Given the description of an element on the screen output the (x, y) to click on. 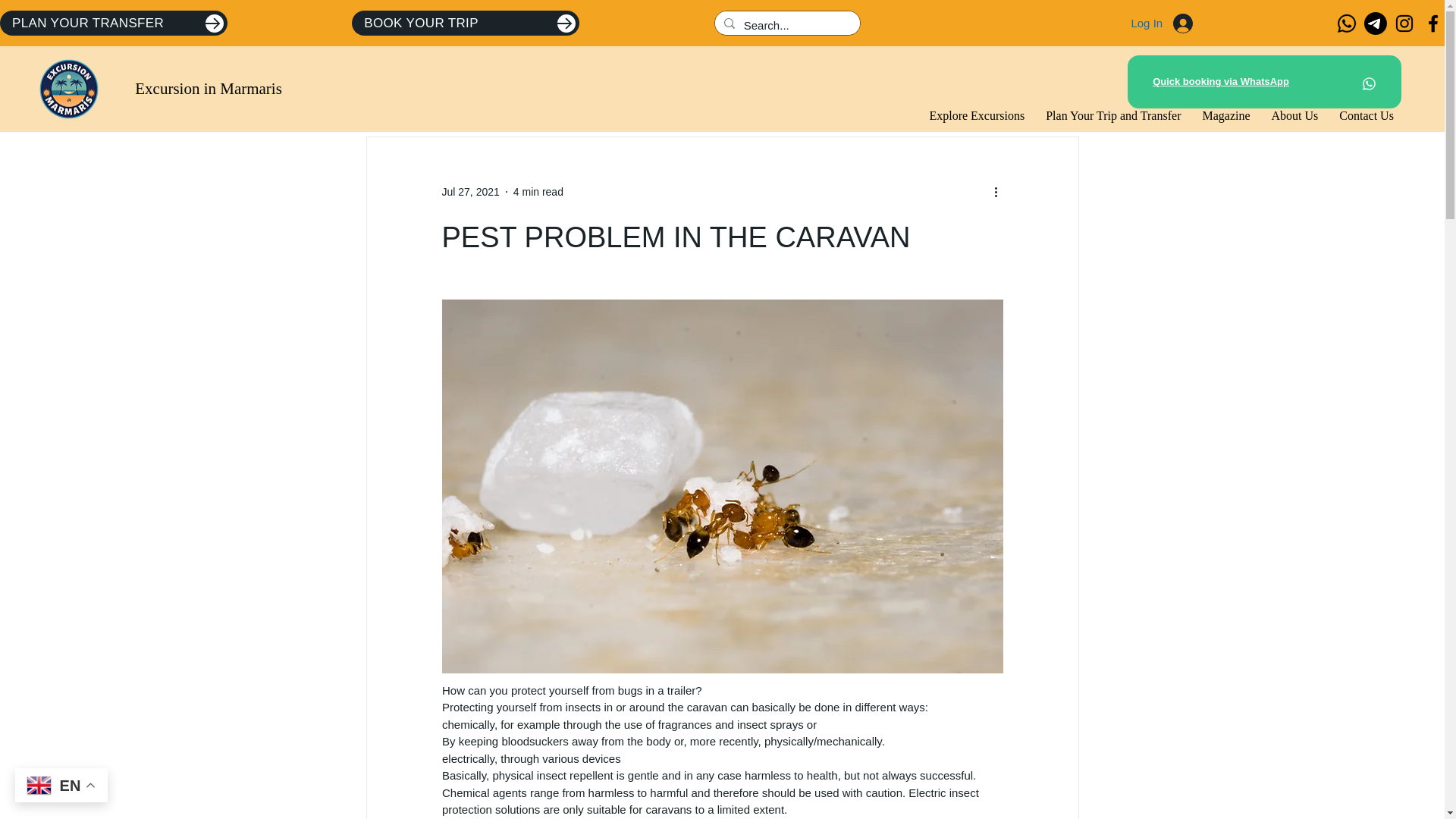
BOOK YOUR TRIP (465, 22)
4 min read (538, 191)
Log In (1161, 23)
PLAN YOUR TRANSFER (113, 22)
About Us (1294, 115)
Magazine (1225, 115)
Explore Excursions (976, 115)
Contact Us (1366, 115)
Quick booking via WhatsApp (1220, 81)
Plan Your Trip and Transfer (1113, 115)
Jul 27, 2021 (470, 191)
All Posts (371, 90)
Excursion in Marmaris (208, 88)
